Given the description of an element on the screen output the (x, y) to click on. 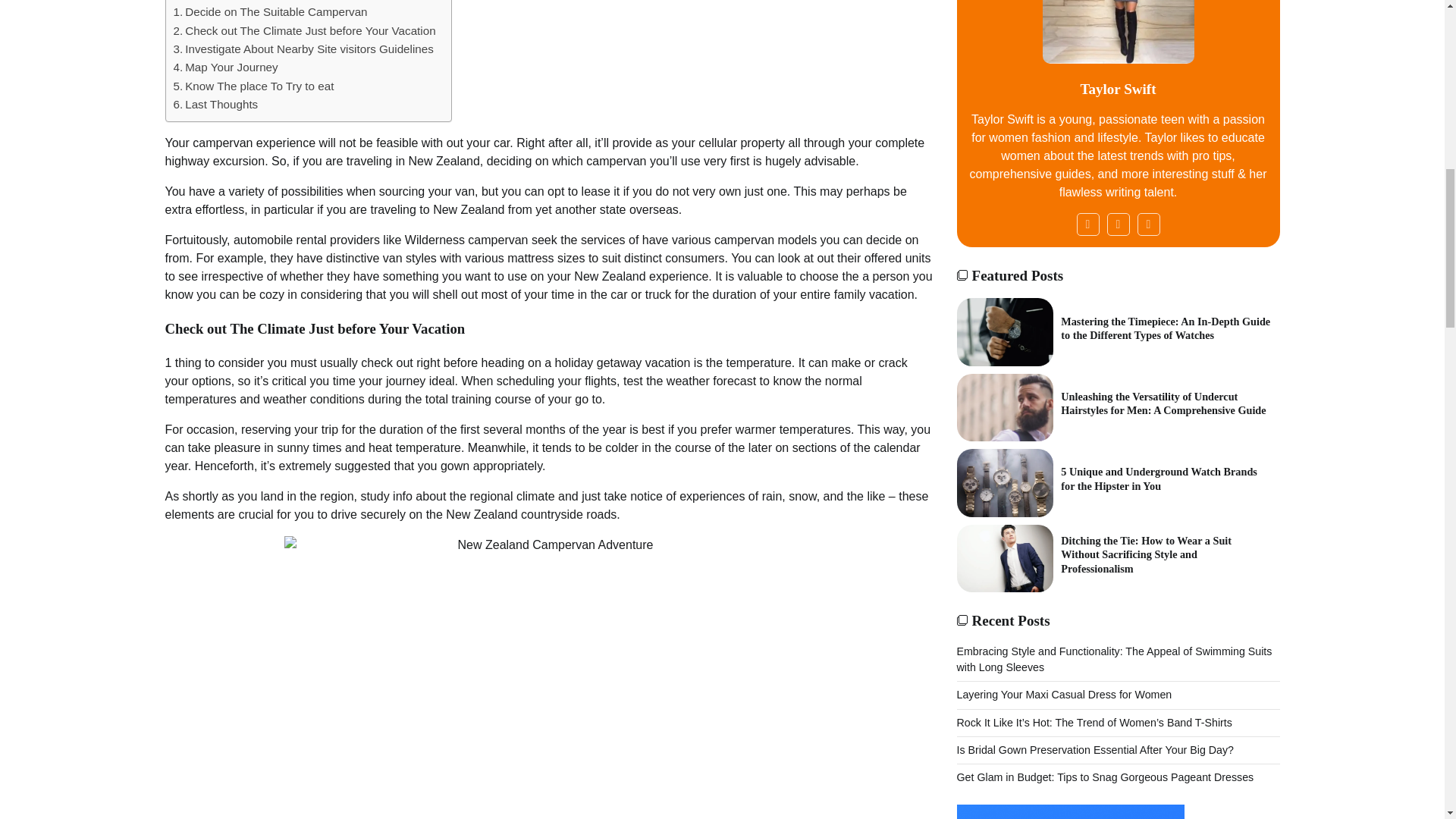
Know The place To Try to eat (253, 85)
Map Your Journey  (225, 67)
Know The place To Try to eat  (253, 85)
Investigate About Nearby Site visitors Guidelines (302, 49)
Last Thoughts  (216, 104)
Decide on The Suitable Campervan (269, 12)
Map Your Journey (225, 67)
Decide on The Suitable Campervan  (269, 12)
Check out The Climate Just before Your Vacation  (304, 31)
Check out The Climate Just before Your Vacation (304, 31)
Investigate About Nearby Site visitors Guidelines  (302, 49)
